Given the description of an element on the screen output the (x, y) to click on. 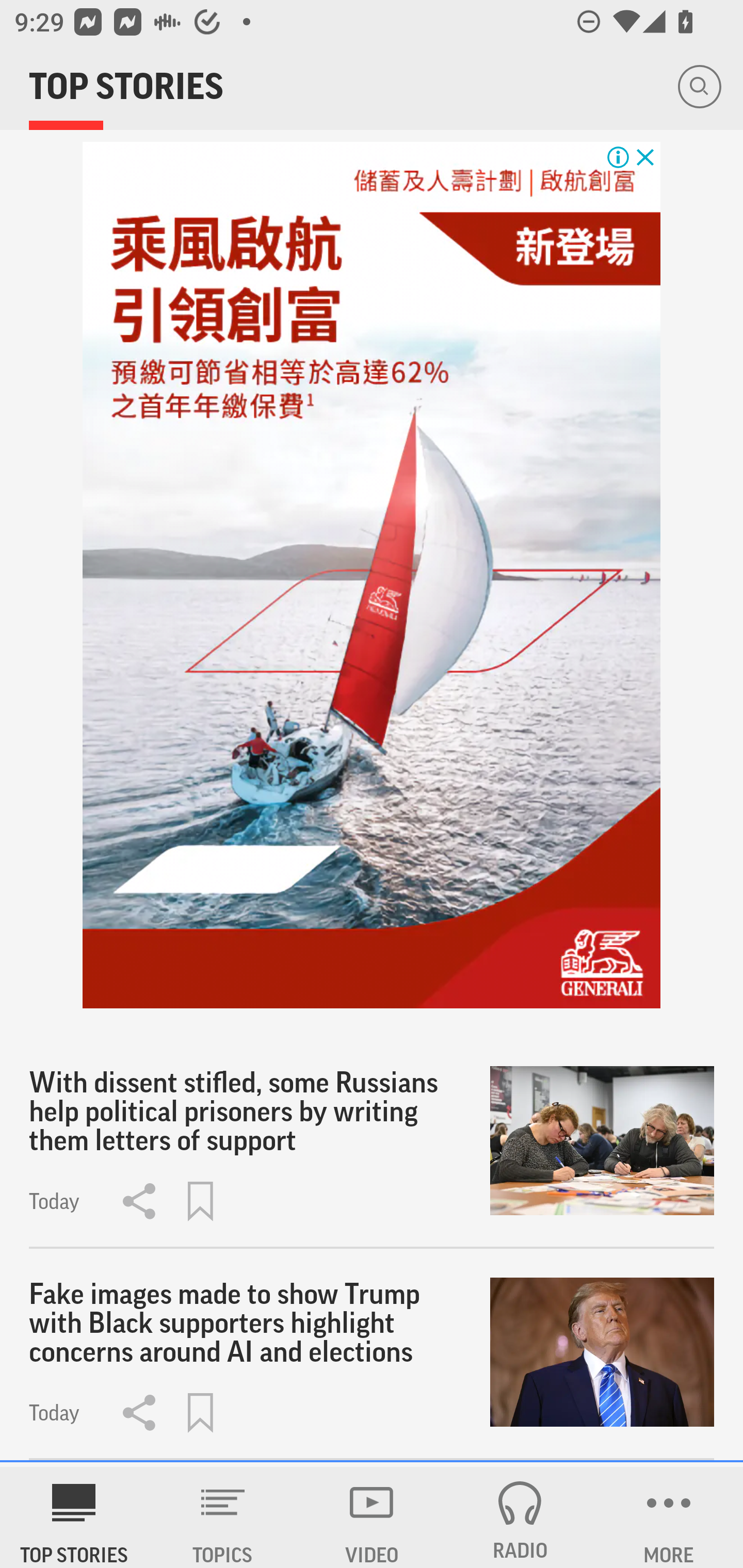
AP News TOP STORIES (74, 1517)
TOPICS (222, 1517)
VIDEO (371, 1517)
RADIO (519, 1517)
MORE (668, 1517)
